Given the description of an element on the screen output the (x, y) to click on. 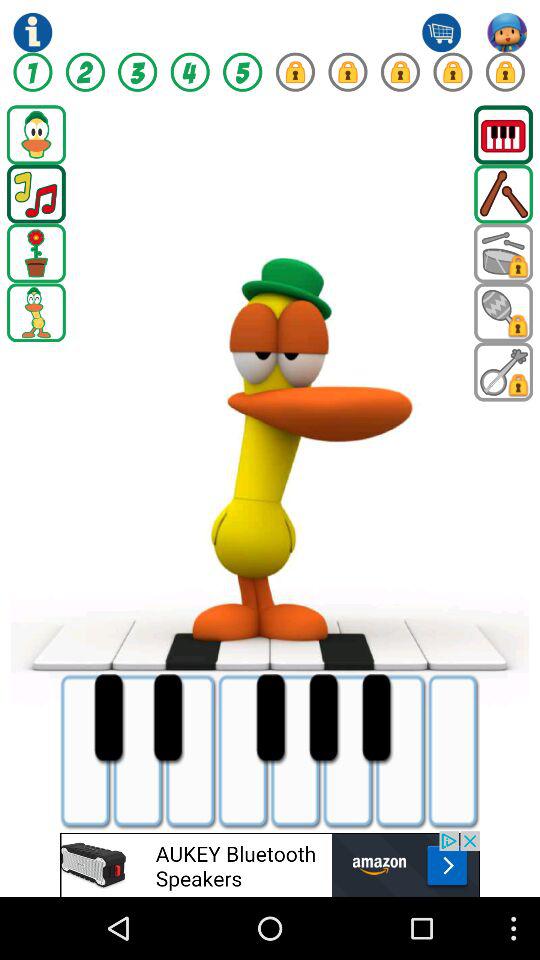
view profile (507, 32)
